Given the description of an element on the screen output the (x, y) to click on. 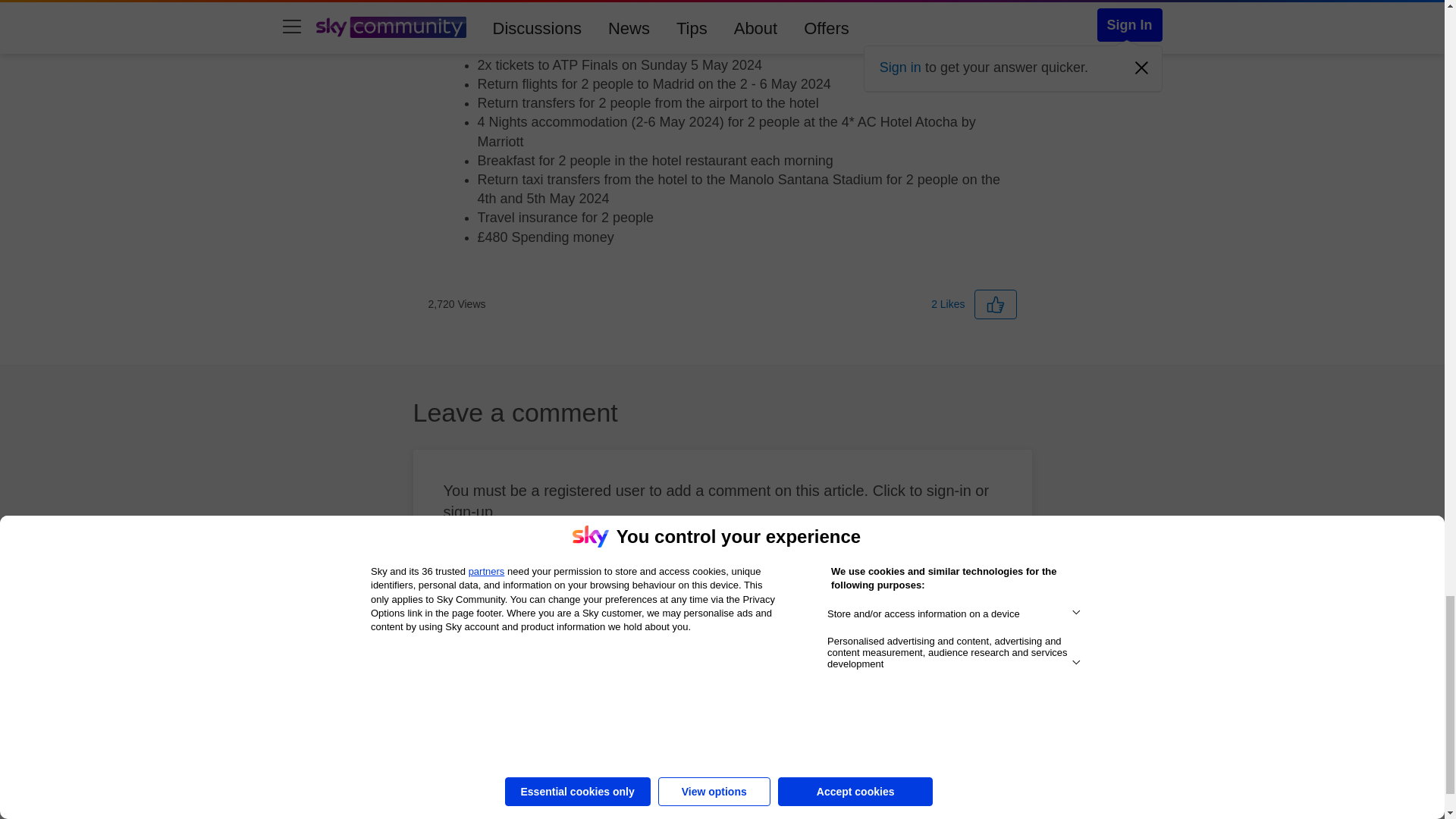
2 Likes (947, 303)
Top (1405, 778)
Click here to Like this post. (995, 304)
Top (1405, 778)
Top (1405, 778)
Click here to see who gave Likes to this post. (947, 303)
